Given the description of an element on the screen output the (x, y) to click on. 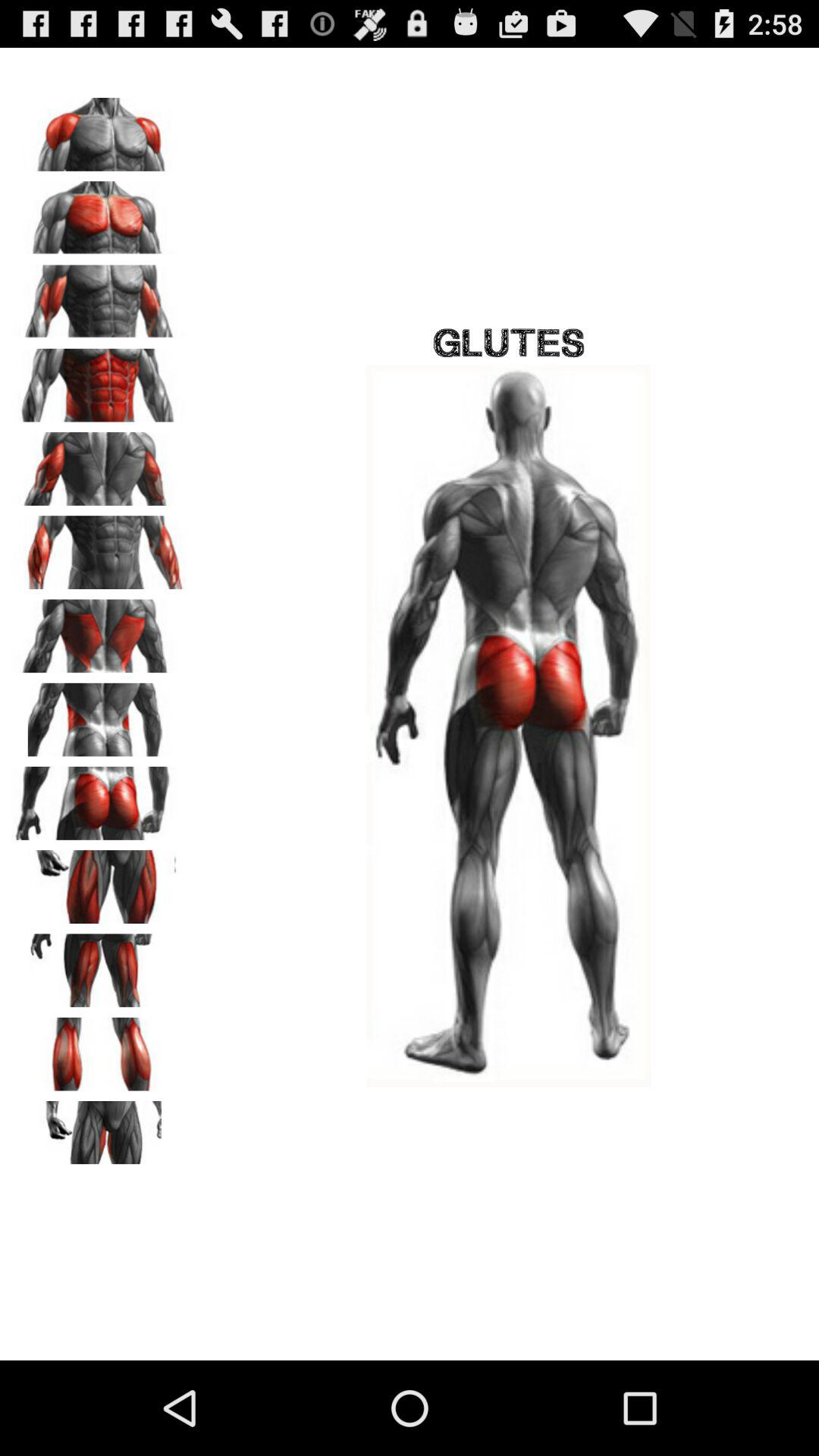
select upper arms (99, 463)
